Given the description of an element on the screen output the (x, y) to click on. 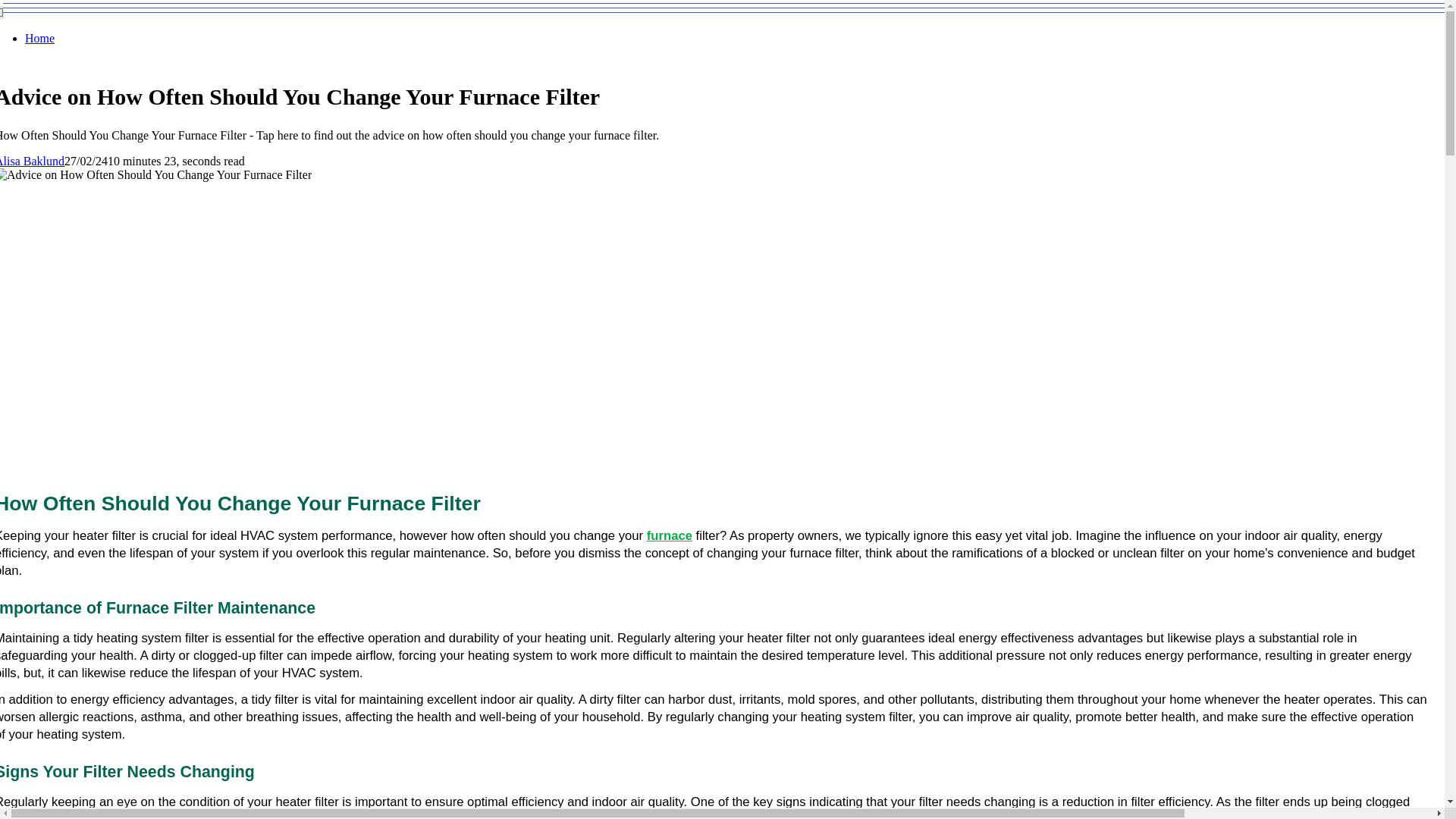
Alisa Baklund (32, 160)
Home (39, 38)
Posts by Alisa Baklund (32, 160)
furnace (669, 535)
